Given the description of an element on the screen output the (x, y) to click on. 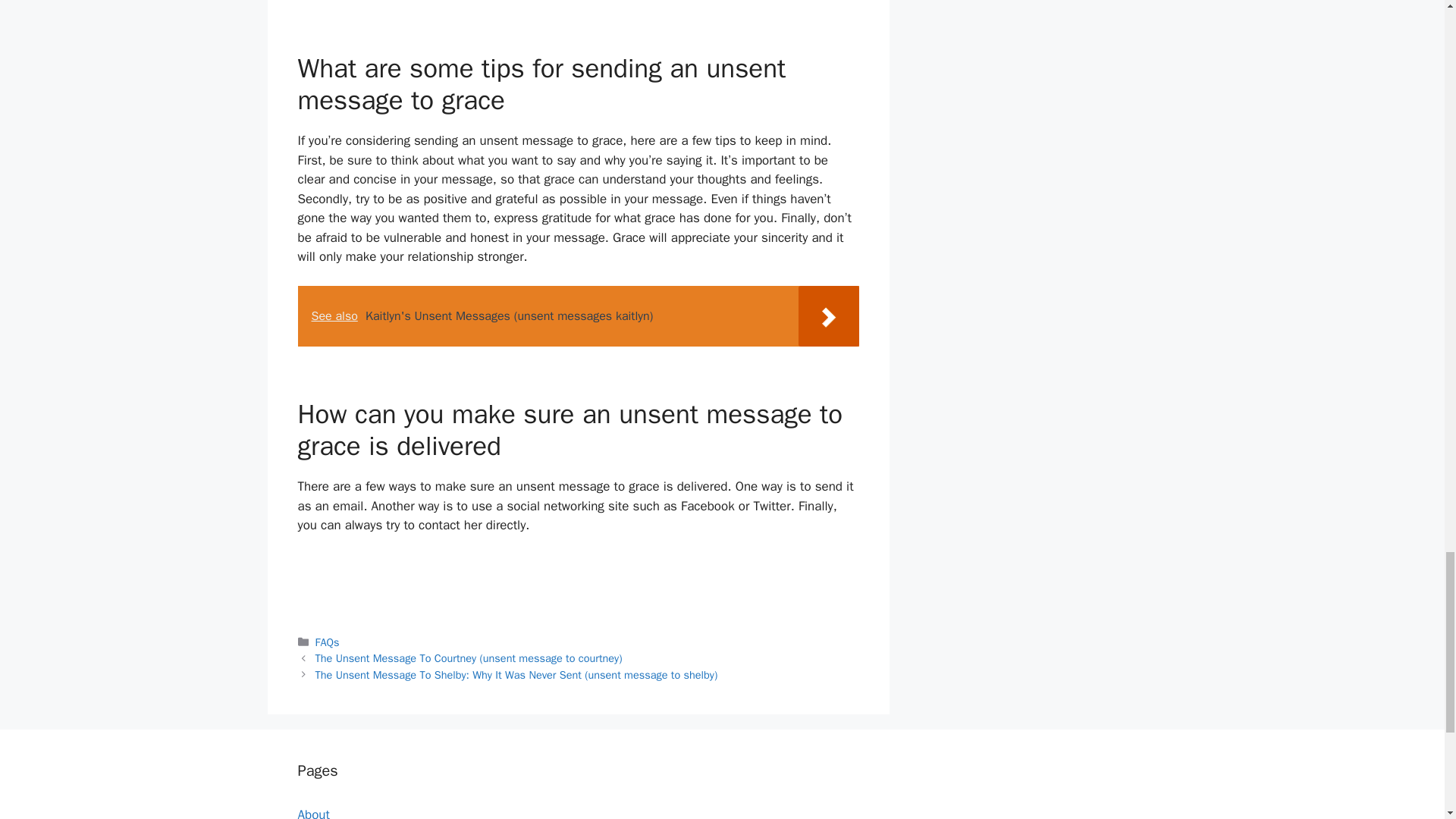
Previous (469, 658)
FAQs (327, 642)
Next (516, 674)
